Given the description of an element on the screen output the (x, y) to click on. 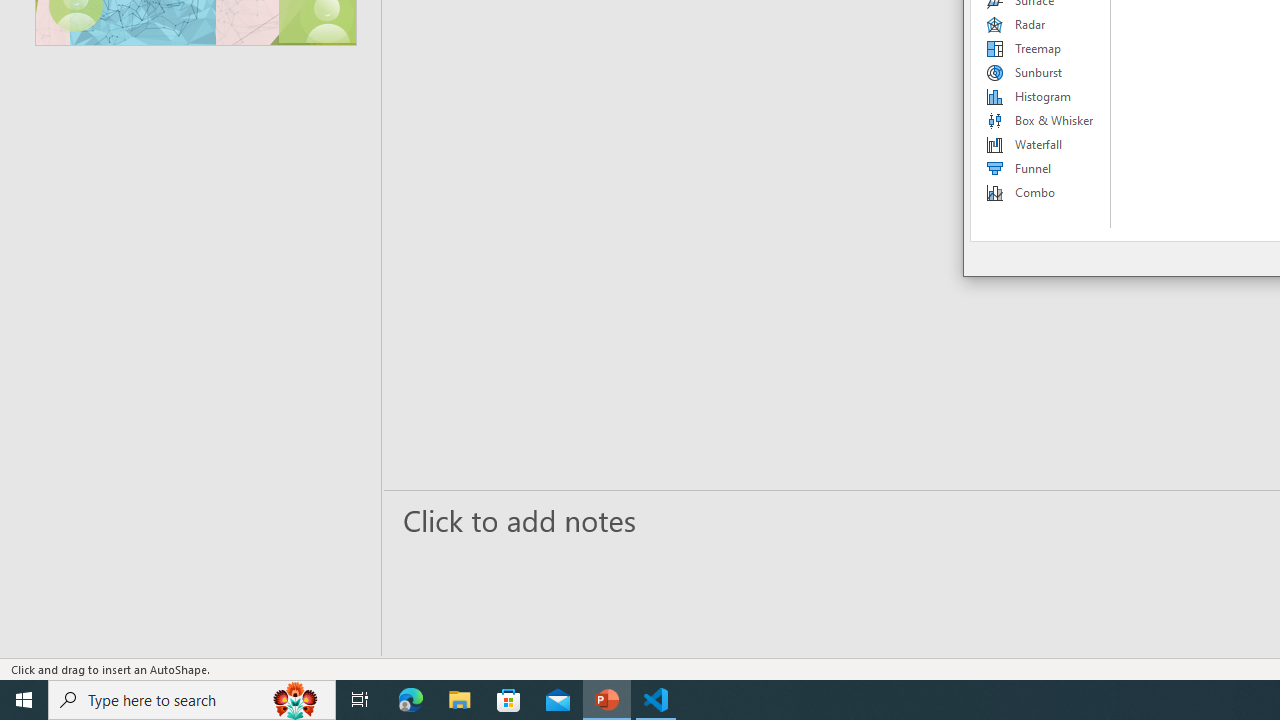
Sunburst (1041, 72)
